Given the description of an element on the screen output the (x, y) to click on. 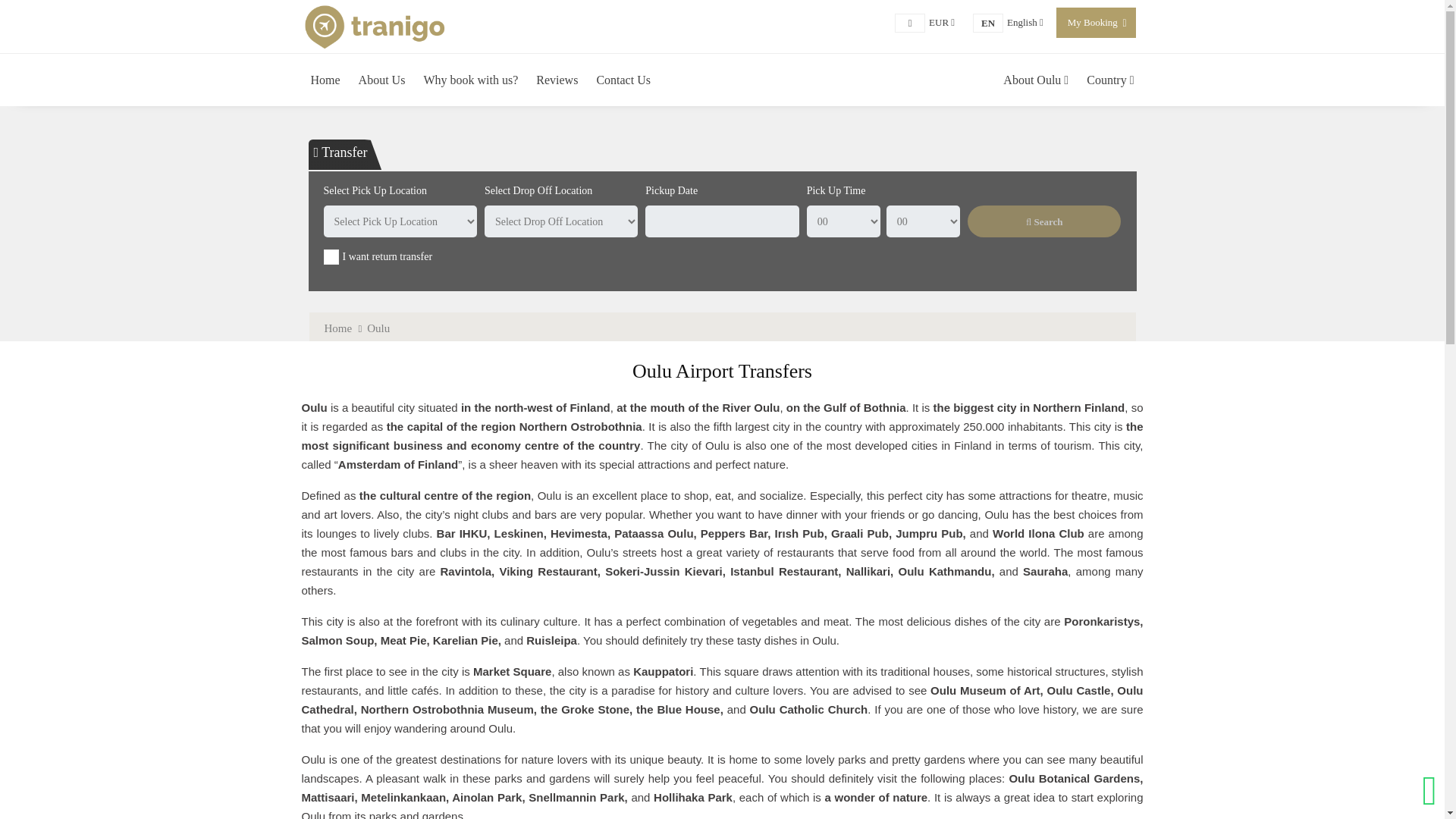
Contact Us (622, 80)
About Us (382, 80)
Reviews (556, 80)
My Booking (1092, 21)
EUR (941, 21)
Why book with us? (1025, 21)
Country (470, 80)
